Given the description of an element on the screen output the (x, y) to click on. 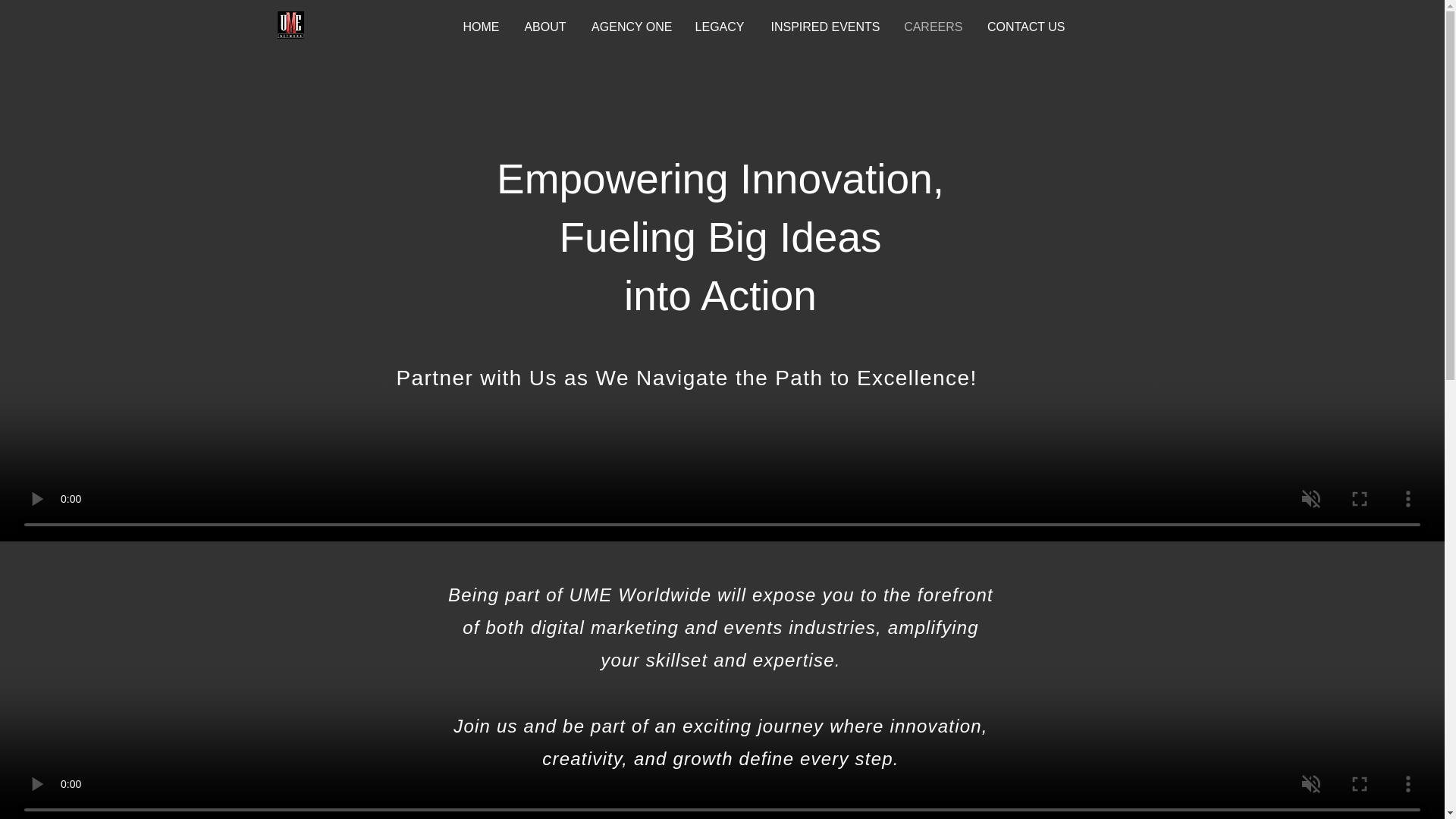
INSPIRED EVENTS (823, 24)
CAREERS (932, 24)
AGENCY ONE (631, 24)
ABOUT (544, 24)
HOME (479, 24)
CONTACT US (1024, 24)
LEGACY (719, 24)
